Given the description of an element on the screen output the (x, y) to click on. 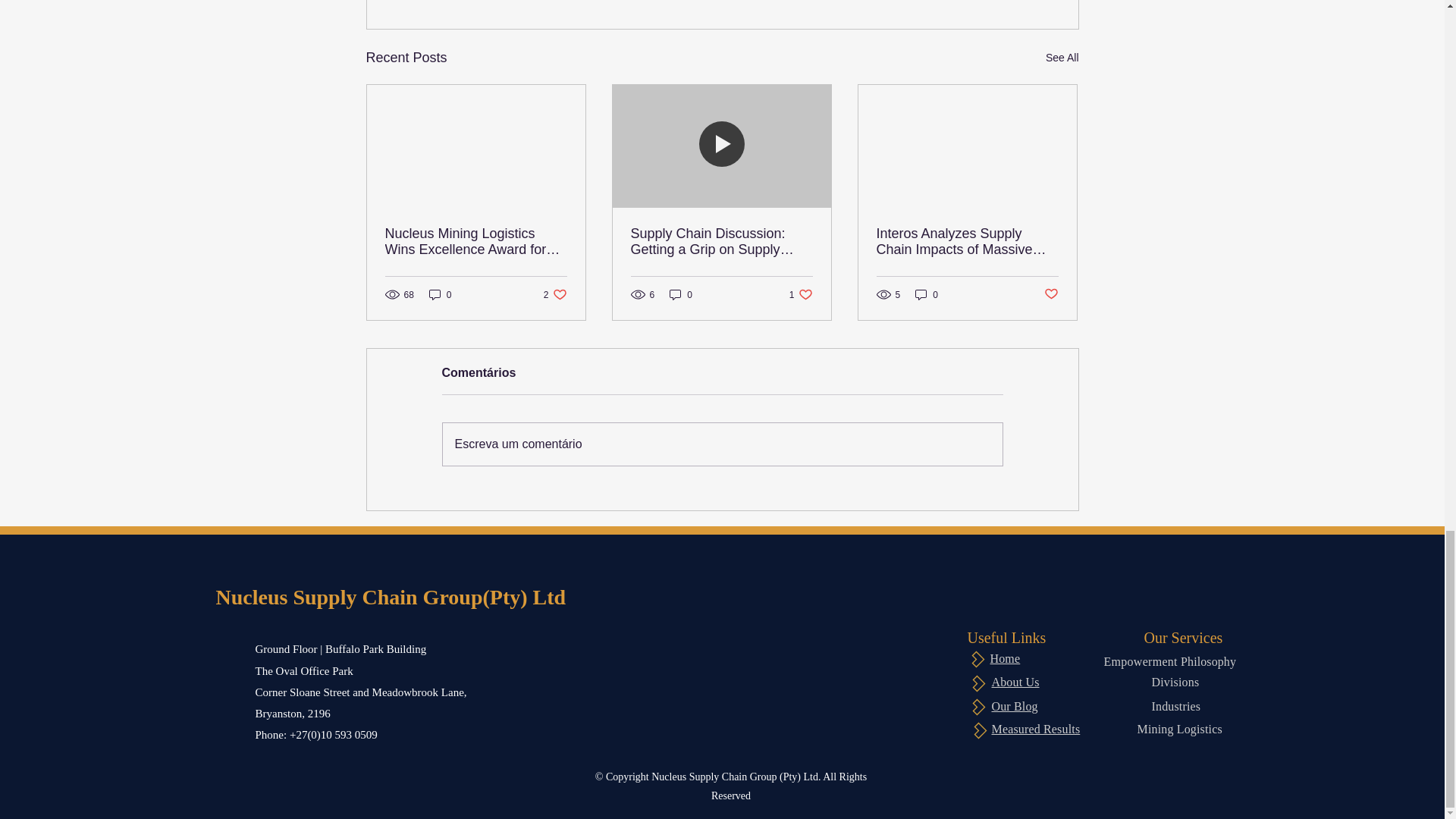
Post not marked as liked (1050, 294)
See All (1061, 57)
0 (681, 294)
0 (800, 294)
About Us (440, 294)
Measured Results (1015, 681)
Our Blog (1035, 728)
0 (1014, 706)
Home (926, 294)
